Given the description of an element on the screen output the (x, y) to click on. 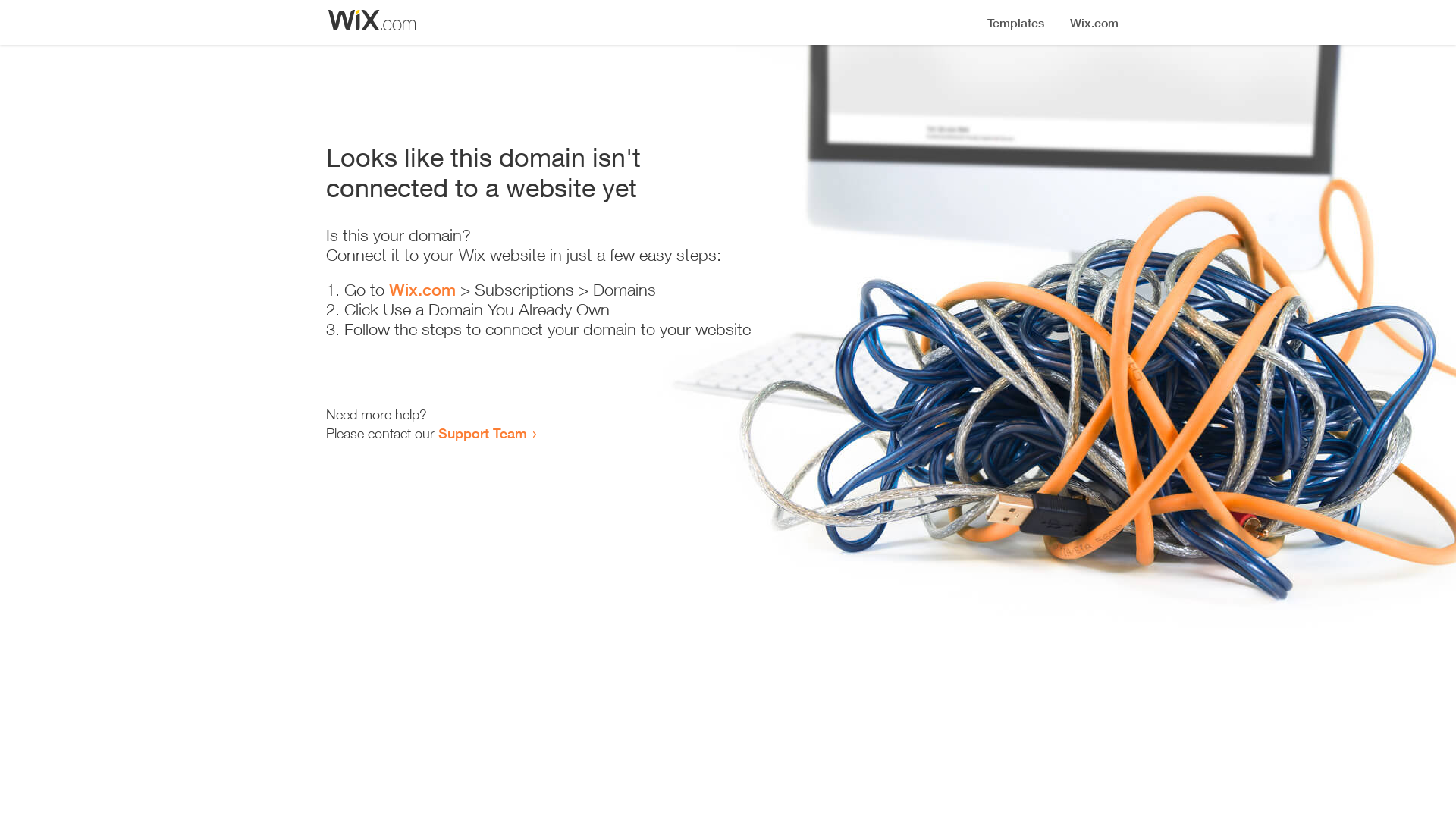
Support Team Element type: text (482, 432)
Wix.com Element type: text (422, 289)
